Given the description of an element on the screen output the (x, y) to click on. 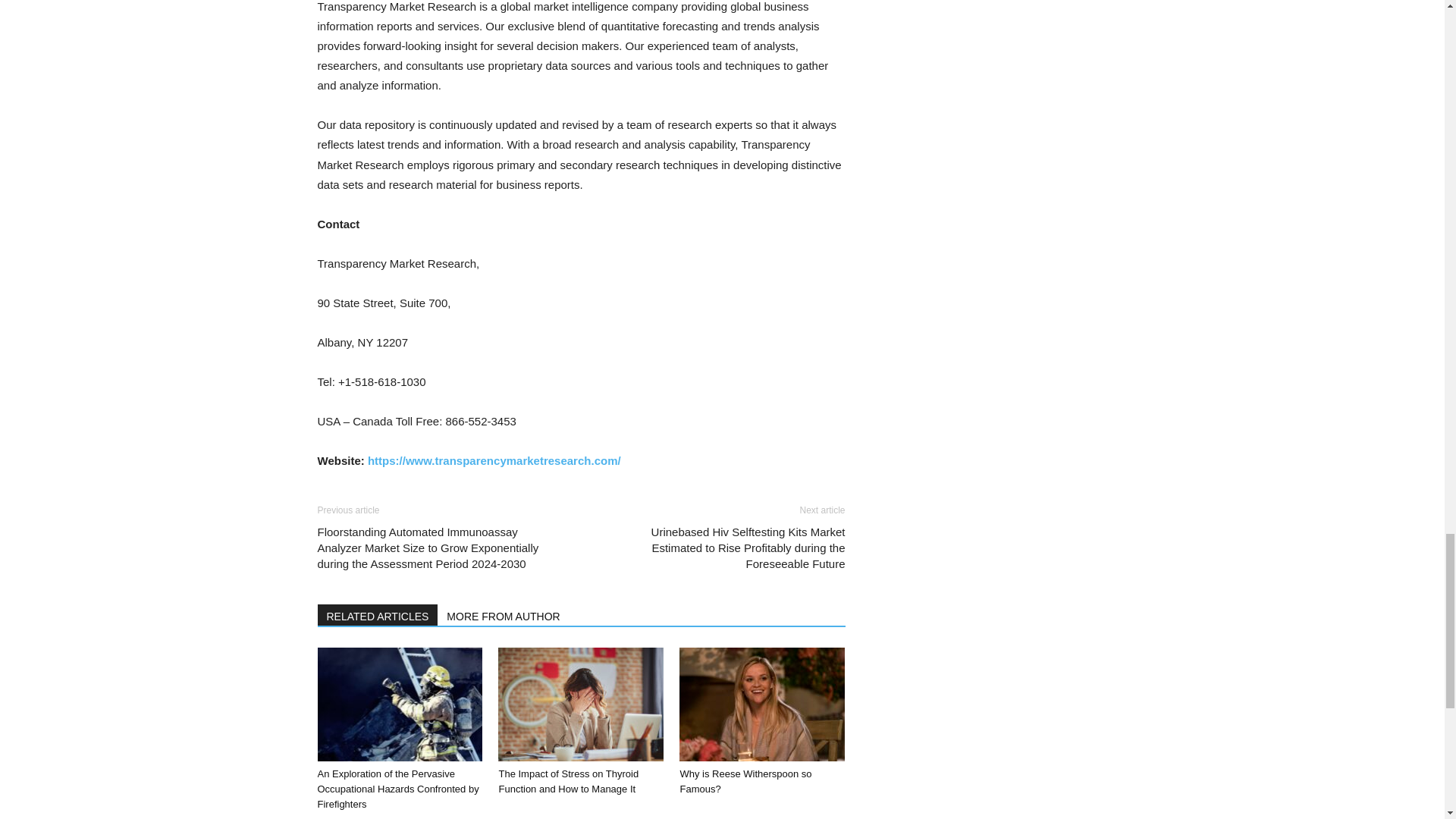
Why is Reese Witherspoon so Famous? (761, 704)
Why is Reese Witherspoon so Famous? (744, 781)
